Given the description of an element on the screen output the (x, y) to click on. 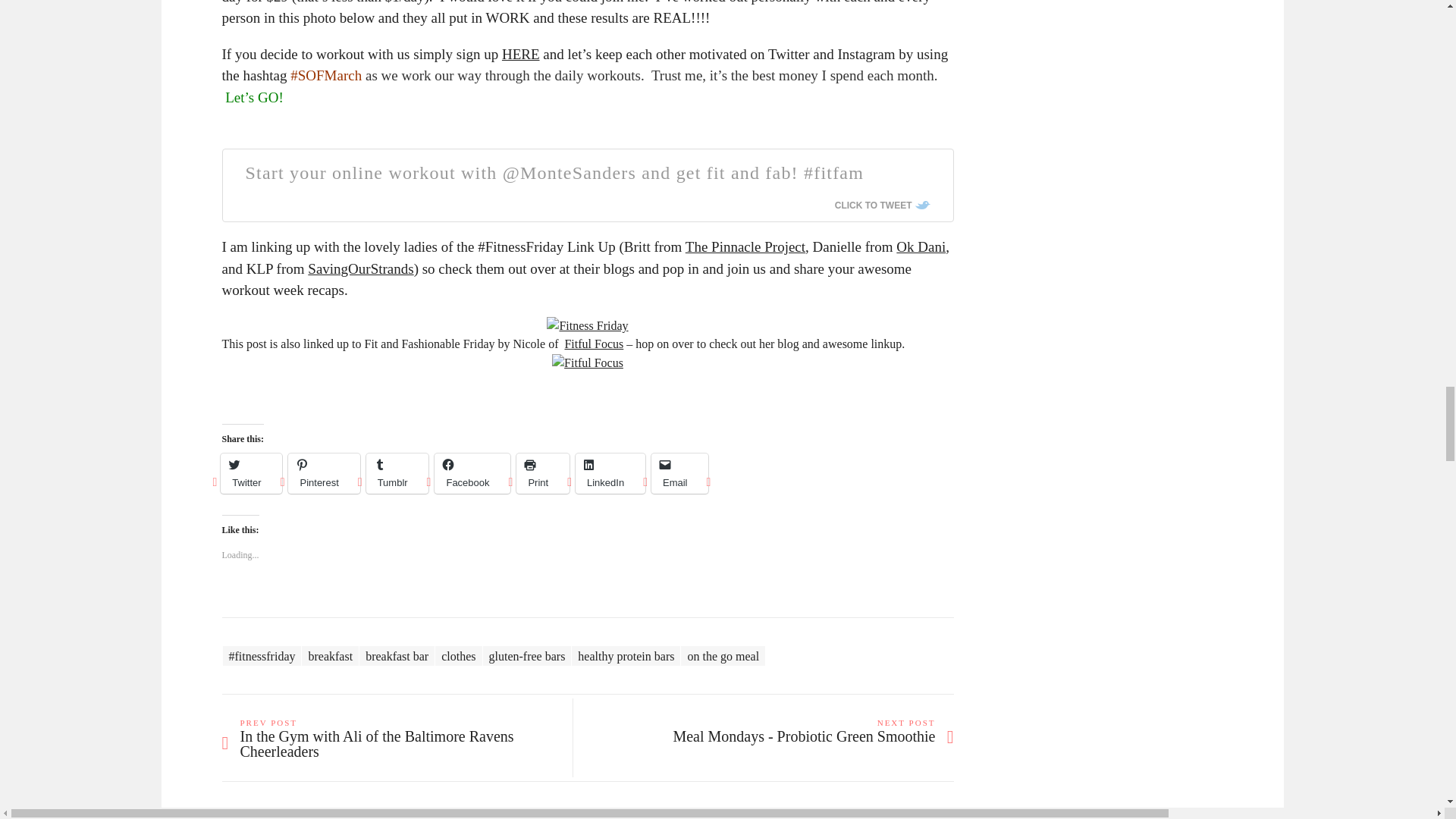
Click to email a link to a friend (678, 473)
Click to share on Pinterest (323, 473)
Click to share on Twitter (251, 473)
Click to print (542, 473)
Fitful Focus (587, 361)
Click to share on Facebook (472, 473)
Fitness Friday (587, 324)
Click to share on Tumblr (397, 473)
Click to share on LinkedIn (610, 473)
